Given the description of an element on the screen output the (x, y) to click on. 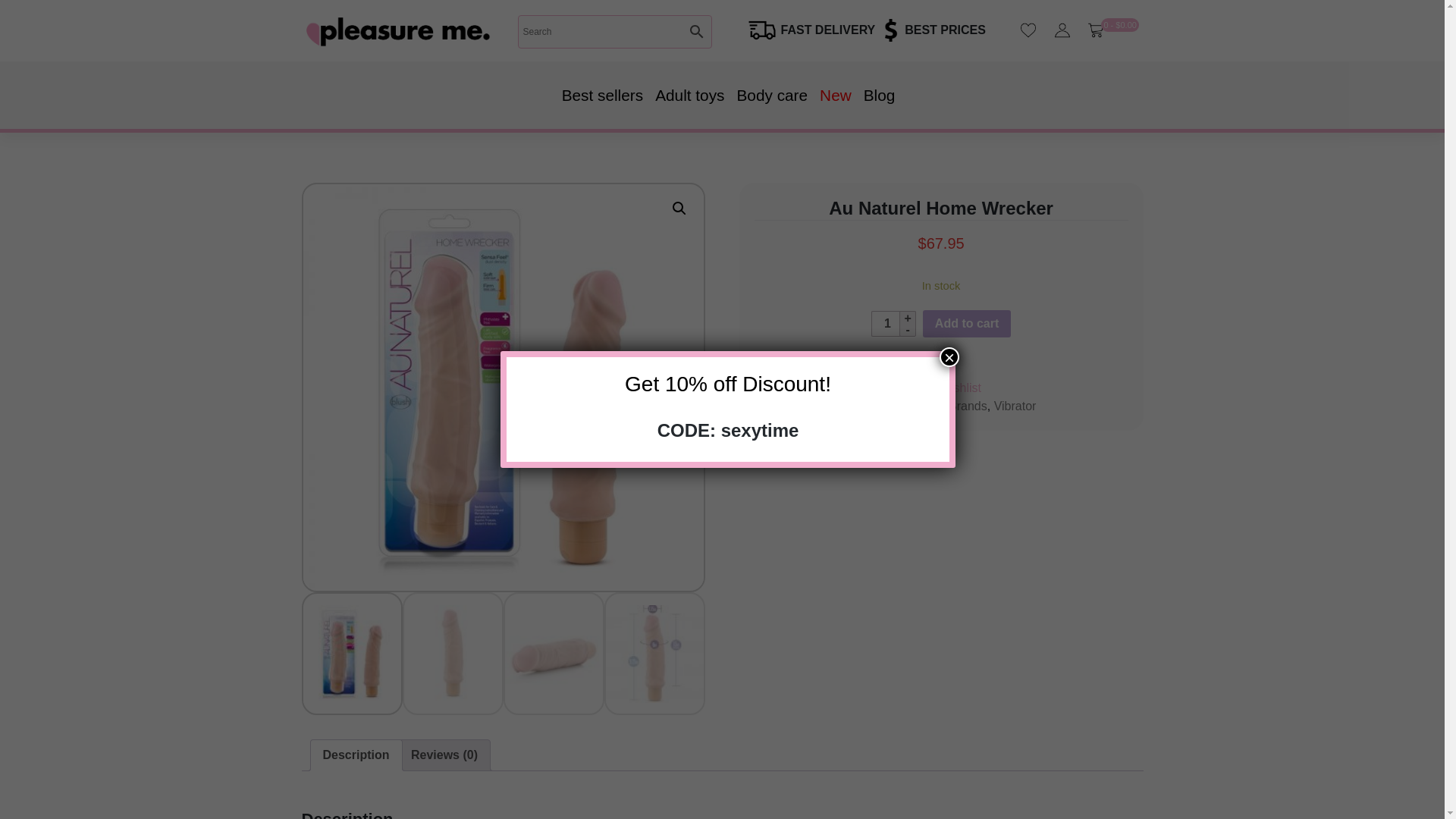
1 (886, 323)
Blog (879, 95)
Blog (879, 95)
Best sellers (602, 95)
View your shopping cart (1119, 24)
Add to Wishlist (941, 387)
Body care (771, 95)
Brands (968, 405)
Blush (926, 405)
Vibrator (1015, 405)
New (835, 95)
Adult toys (689, 95)
- (907, 329)
Adult toys (689, 95)
New (835, 95)
